Given the description of an element on the screen output the (x, y) to click on. 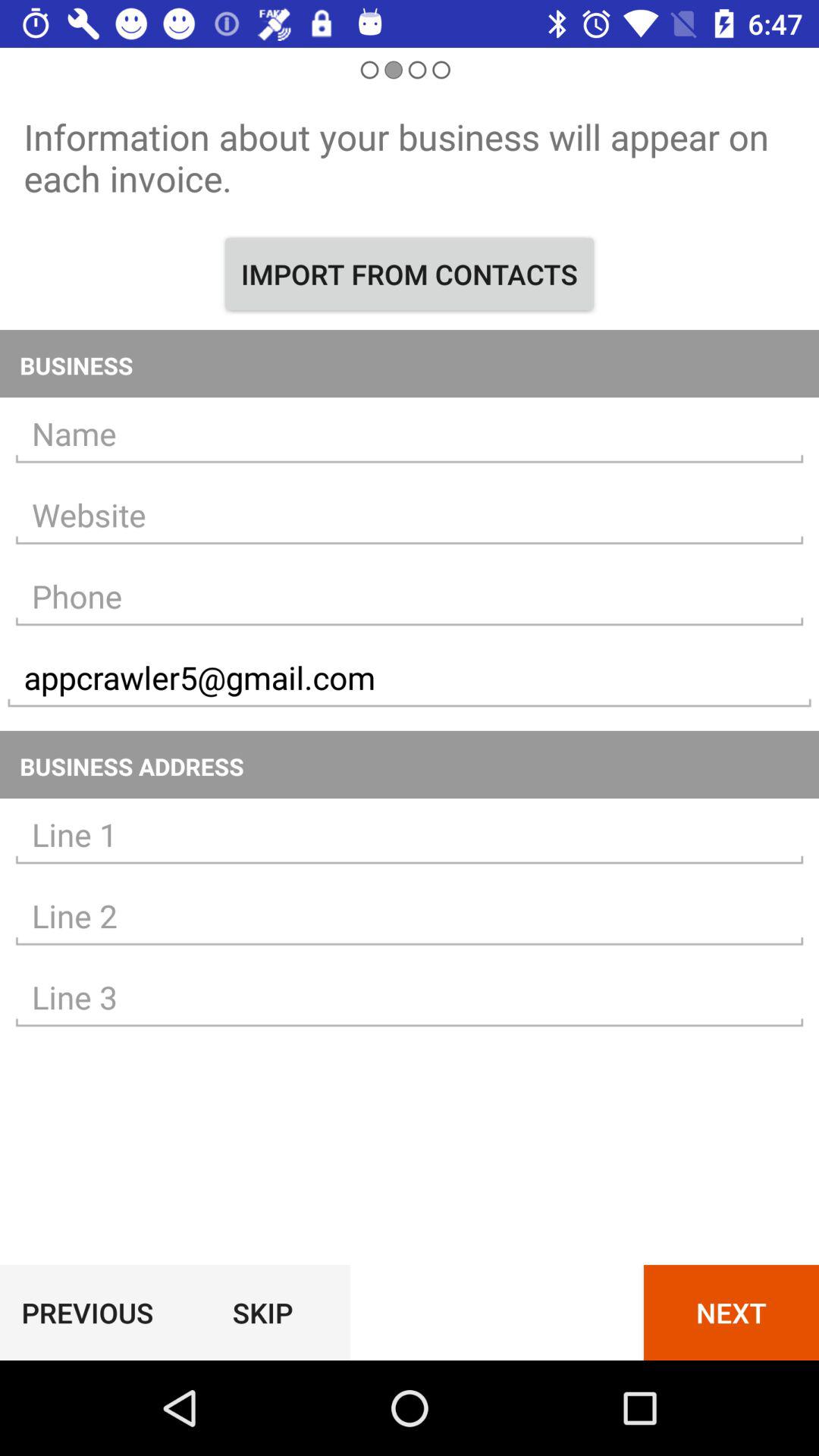
tap icon next to skip (87, 1312)
